Given the description of an element on the screen output the (x, y) to click on. 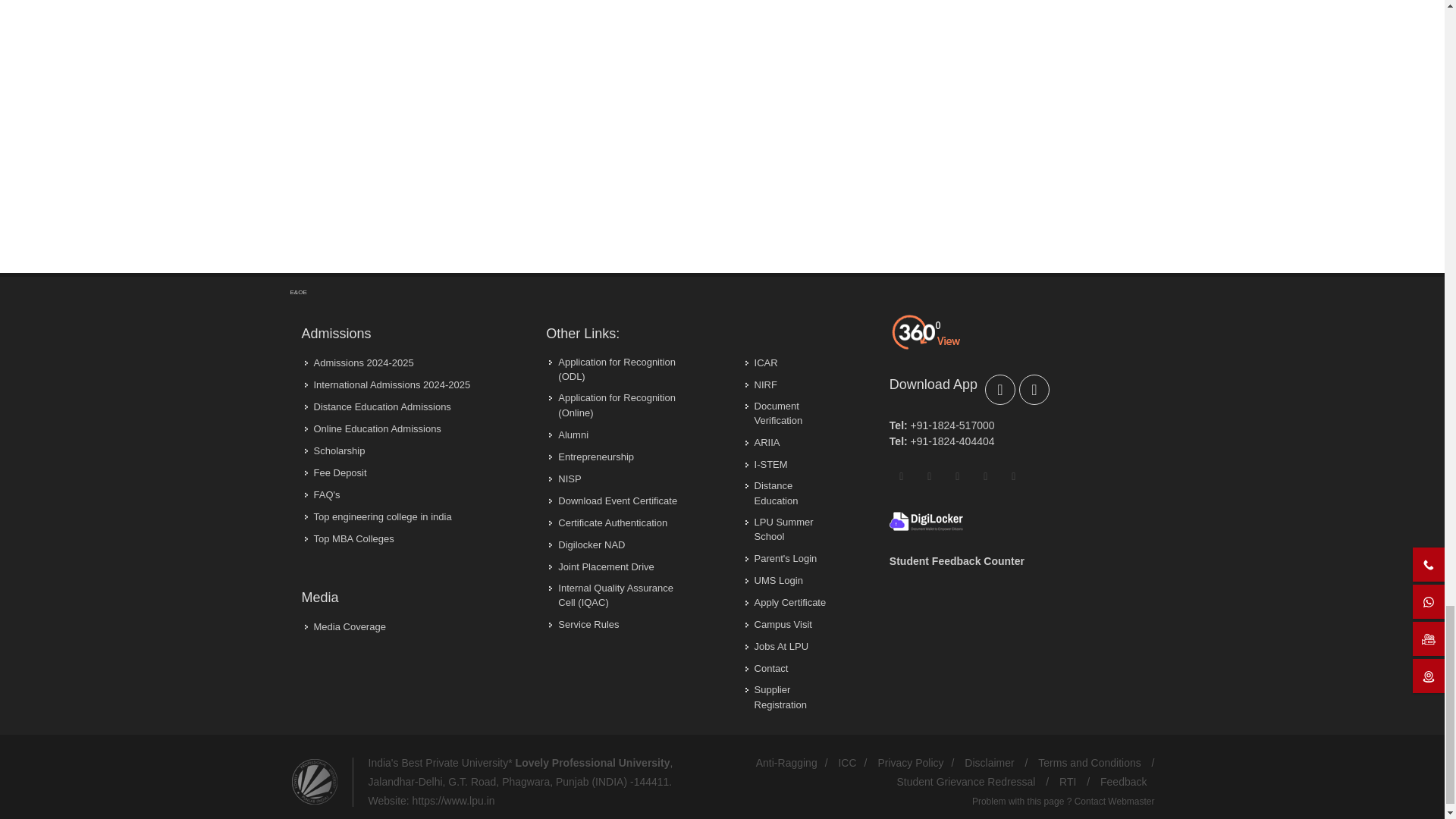
Joint Placement Drive (602, 566)
Fee Deposit (323, 494)
Fee Deposit (336, 473)
Tel (898, 424)
Fee Deposit (587, 544)
Top MBA Colleges (350, 538)
Tel (898, 440)
Appstore (999, 389)
Fee Deposit (925, 520)
Certificate Authentication (608, 522)
Android (1034, 389)
